Given the description of an element on the screen output the (x, y) to click on. 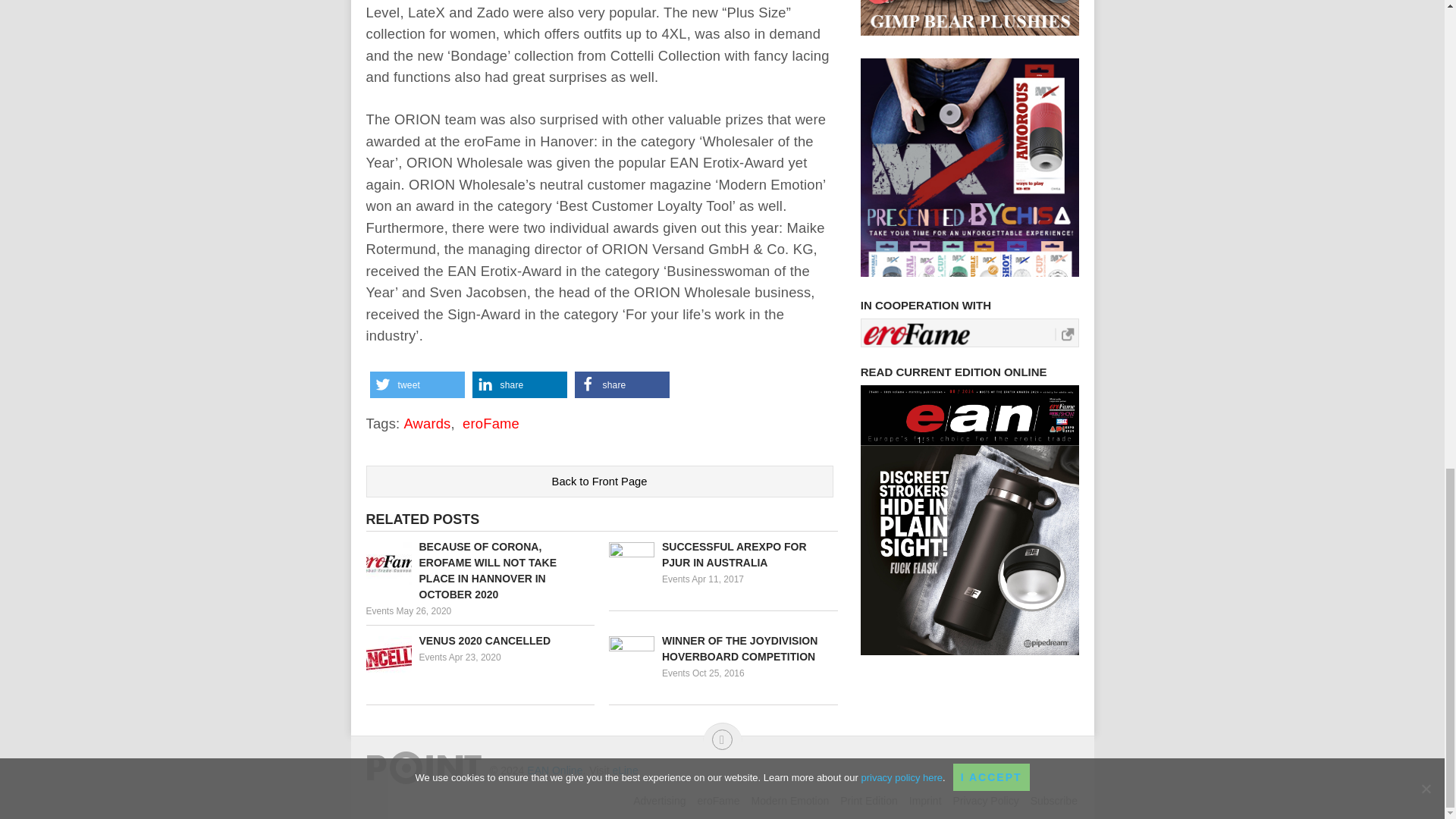
Winner of the JOYDIVISION hoverboard competition (723, 649)
Events (676, 579)
eroFame (491, 423)
Events (676, 673)
Back to Front Page (599, 481)
share  (622, 384)
Events (379, 611)
Awards (426, 423)
share  (518, 384)
